Given the description of an element on the screen output the (x, y) to click on. 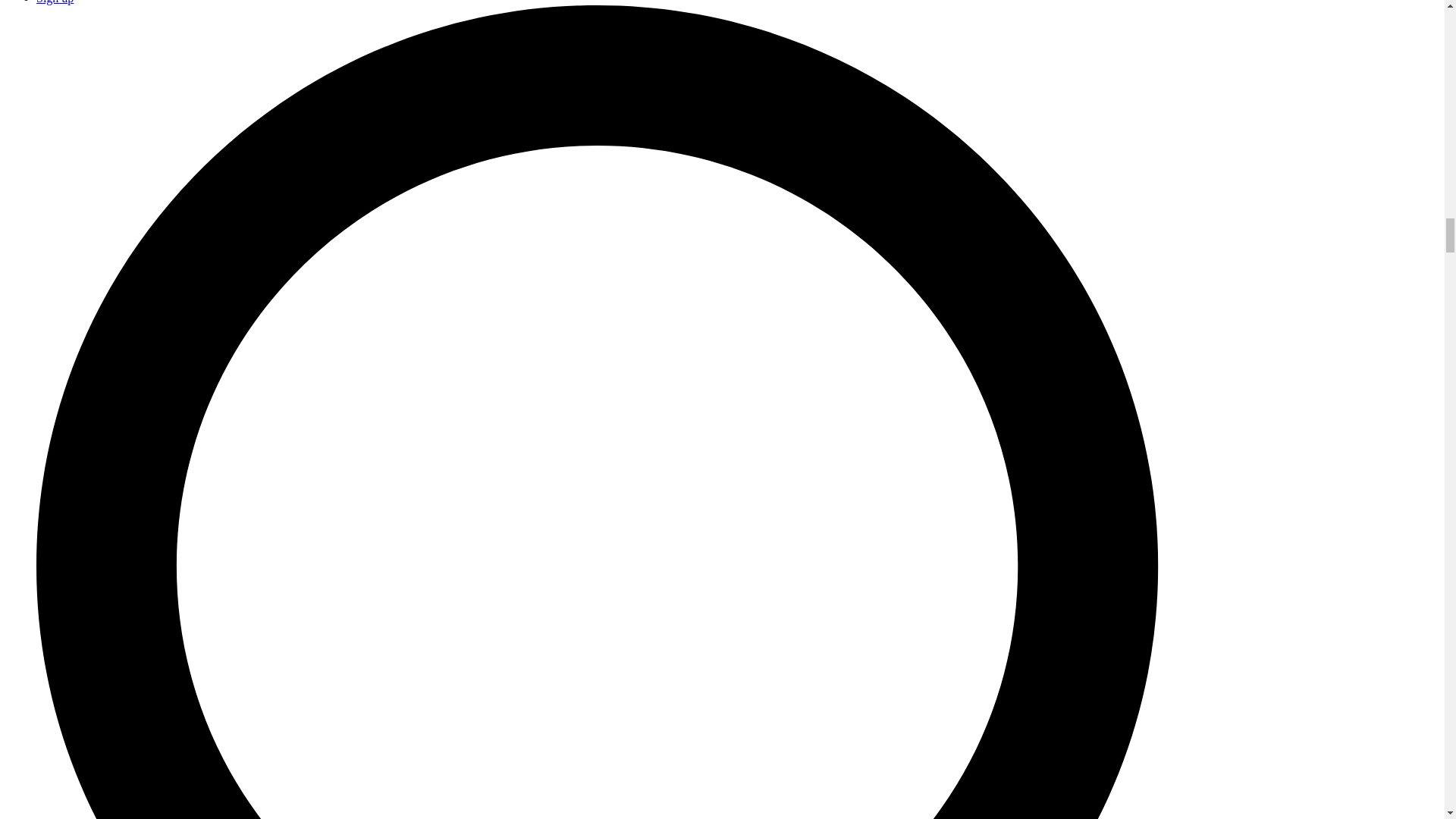
Sign up (55, 2)
